Given the description of an element on the screen output the (x, y) to click on. 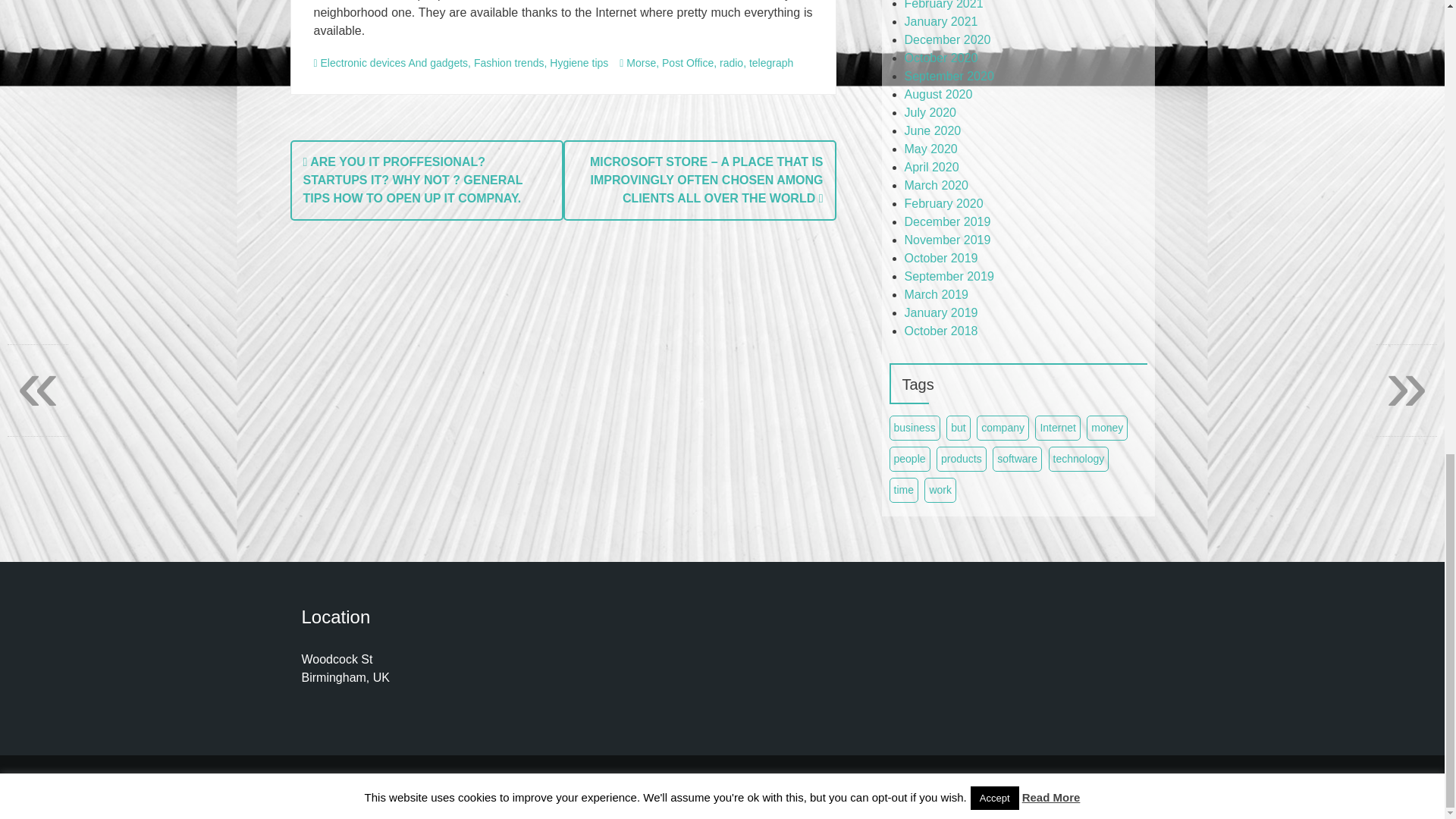
telegraph (771, 62)
Post Office (687, 62)
Fashion trends (509, 62)
Hygiene tips (579, 62)
radio (730, 62)
Morse (641, 62)
Electronic devices And gadgets (394, 62)
